Given the description of an element on the screen output the (x, y) to click on. 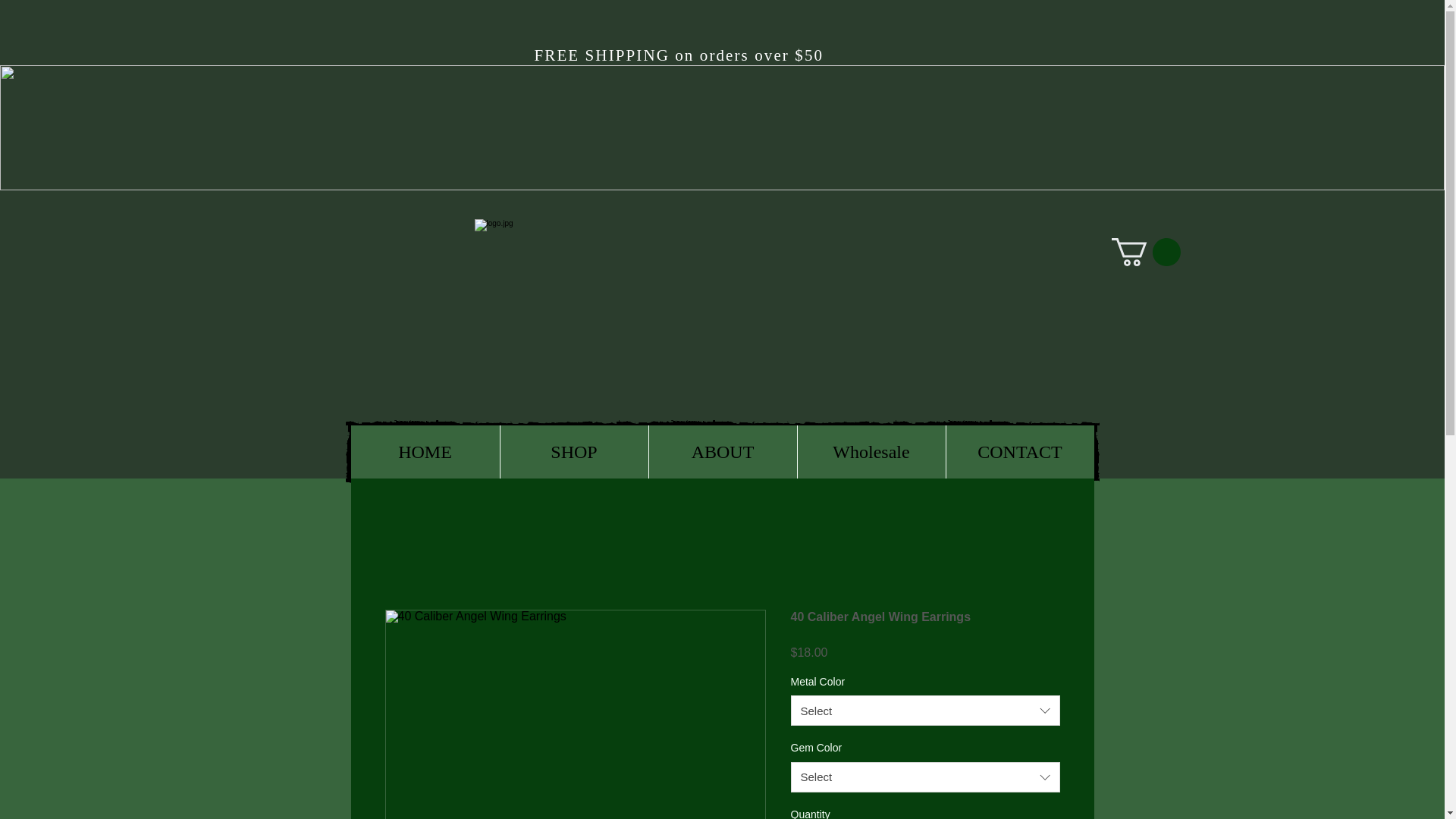
CONTACT (1018, 451)
Wholesale (870, 451)
SHOP (573, 451)
Select (924, 710)
Select (924, 777)
HOME (424, 451)
ABOUT (721, 451)
